Given the description of an element on the screen output the (x, y) to click on. 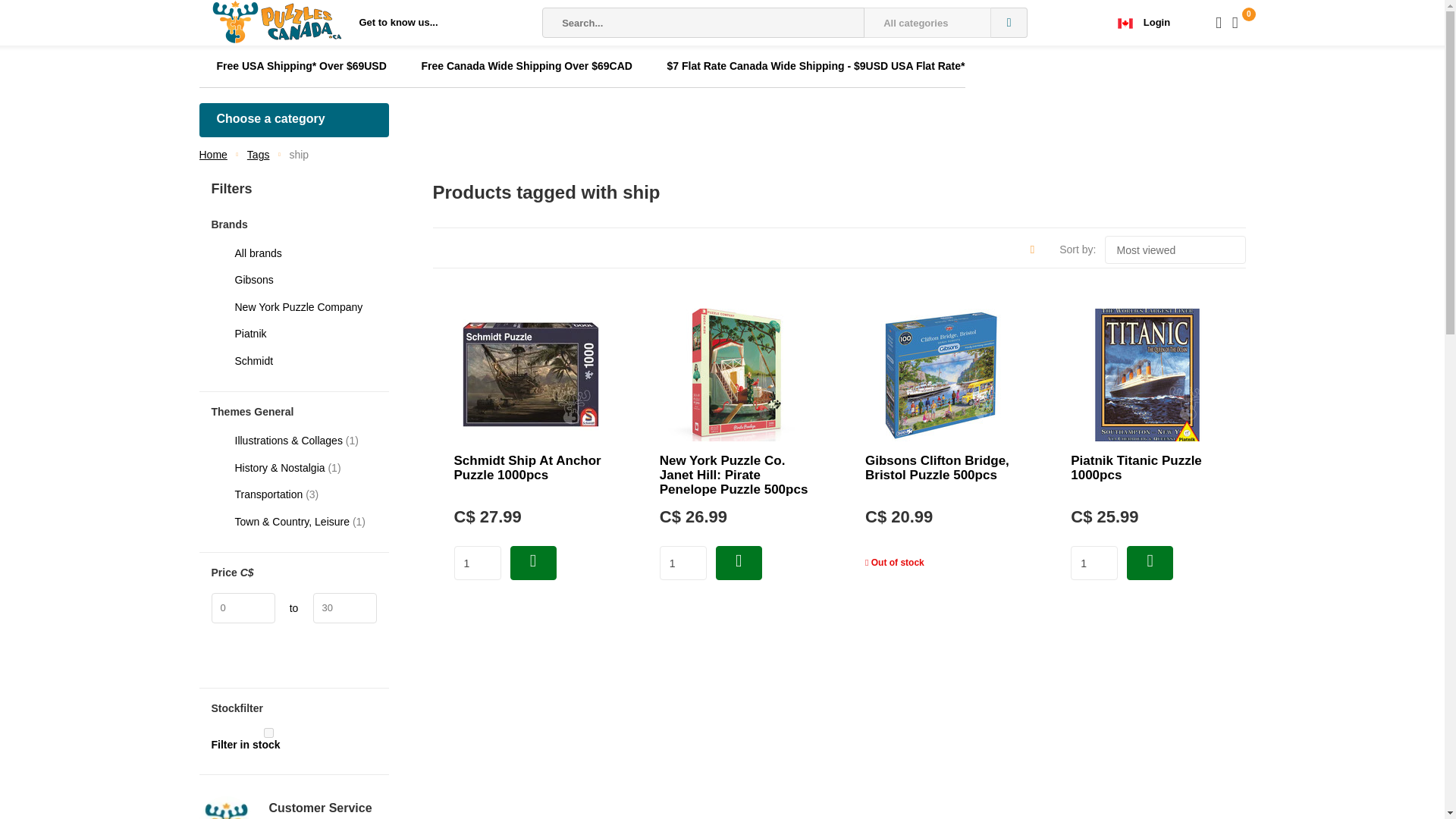
Search (1009, 22)
Search (1009, 22)
on (267, 732)
Get to know us... (398, 22)
30 (344, 607)
0 (243, 607)
